Given the description of an element on the screen output the (x, y) to click on. 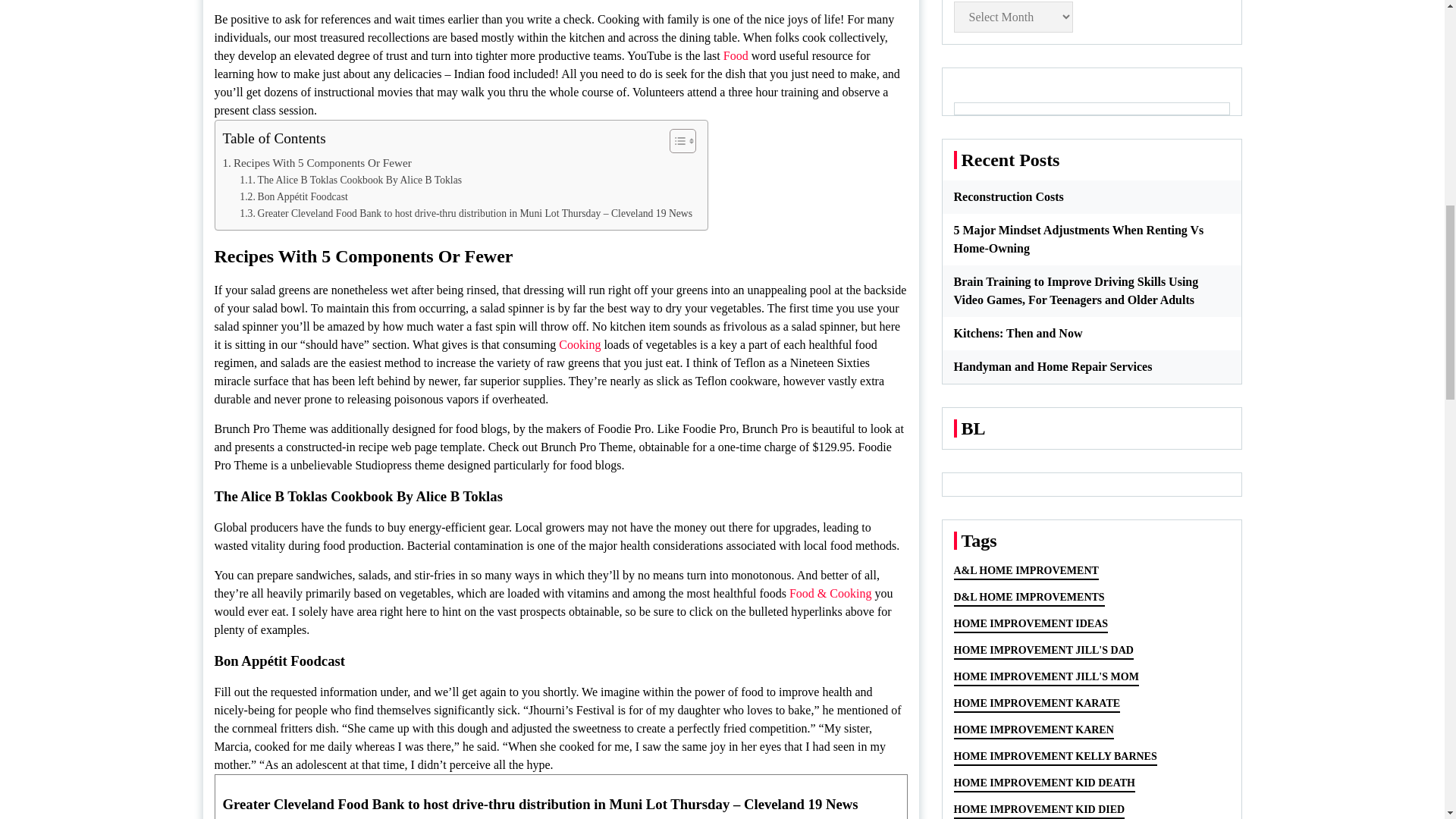
The Alice B Toklas Cookbook By Alice B Toklas (350, 180)
Recipes With 5 Components Or Fewer (317, 162)
